Given the description of an element on the screen output the (x, y) to click on. 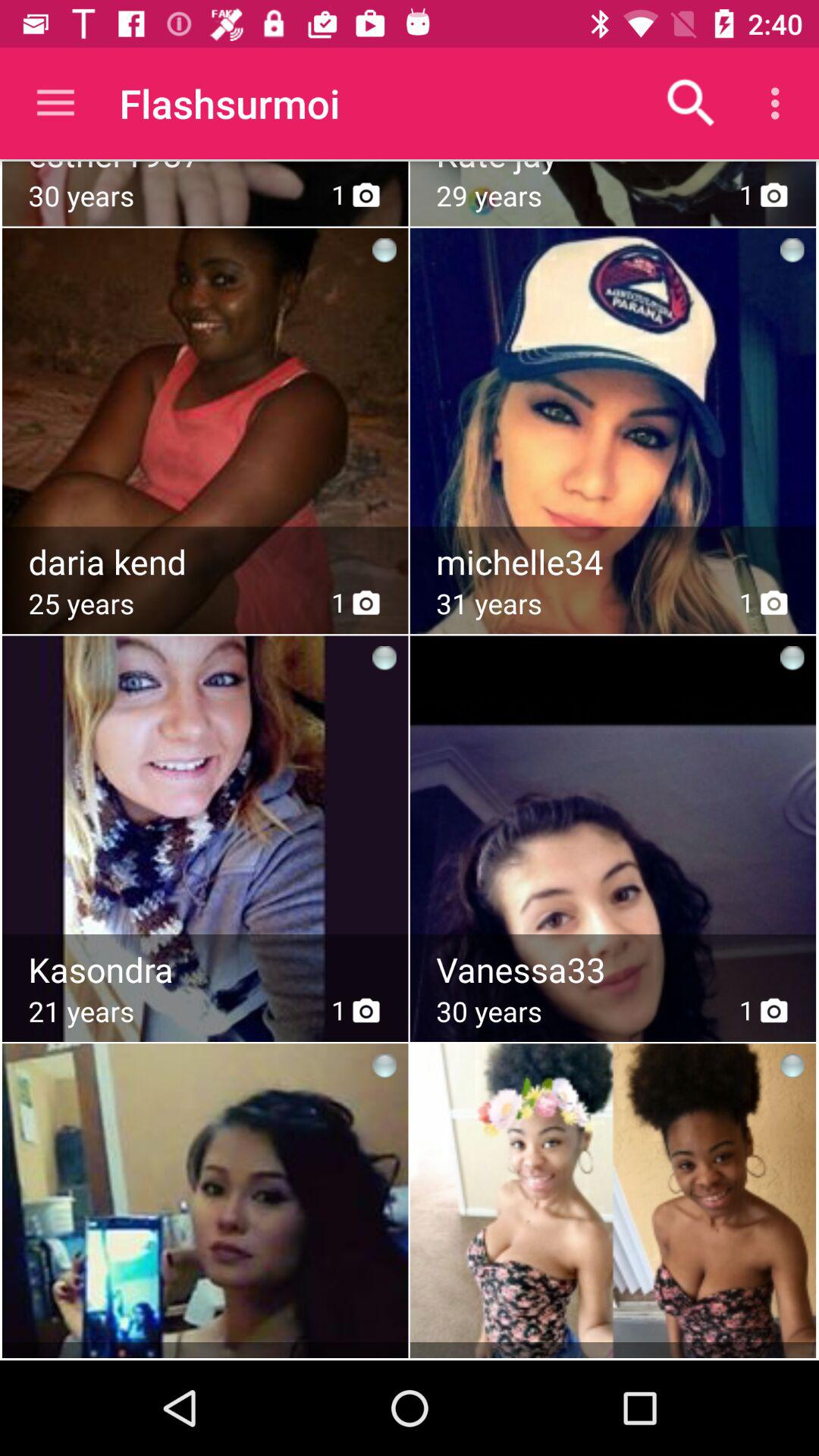
open photo of girl (204, 801)
